Given the description of an element on the screen output the (x, y) to click on. 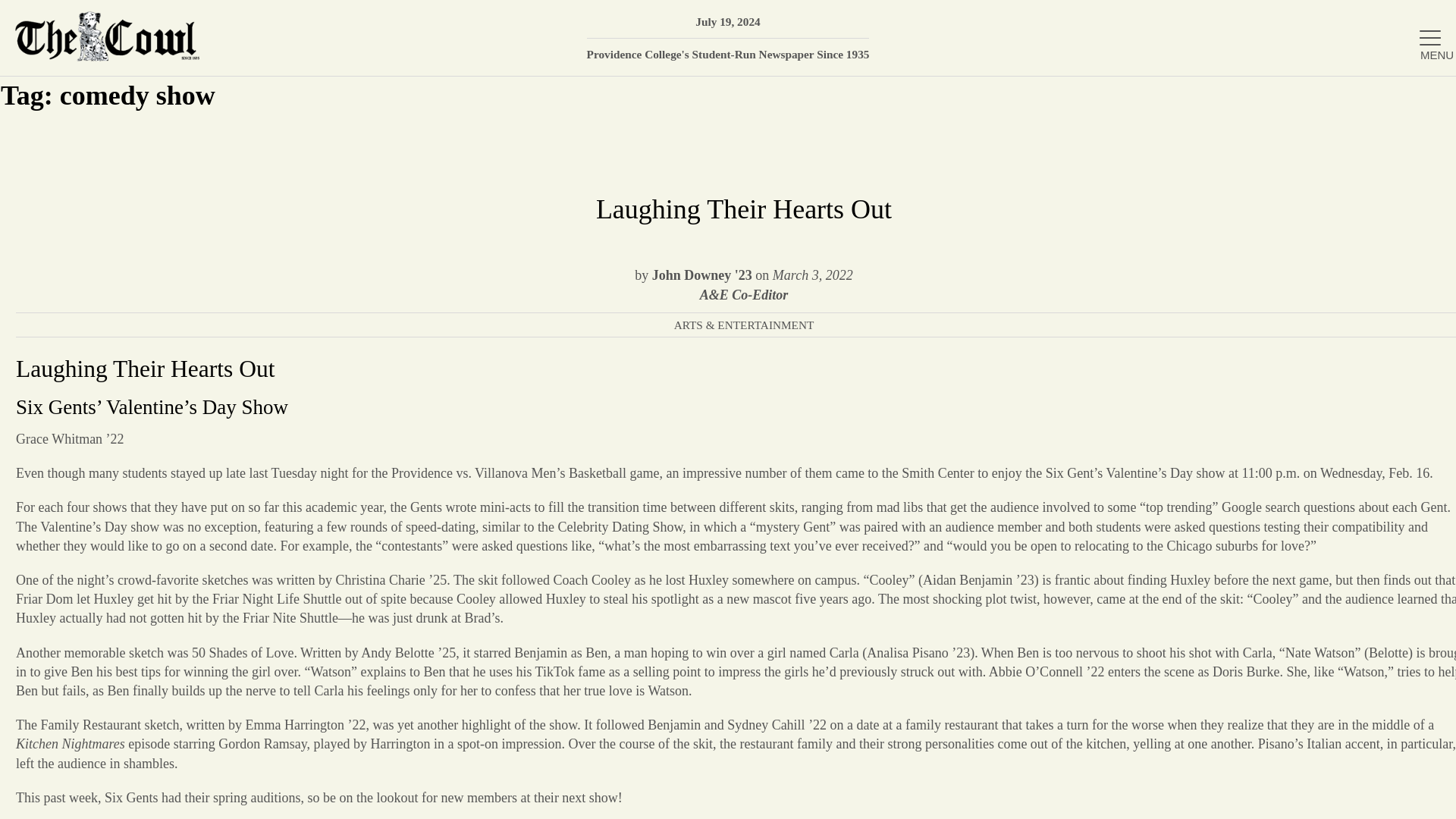
Sports (1275, 448)
Search (1422, 96)
Search (1422, 96)
News (1275, 251)
Letters to the Editor (1275, 497)
Home (1275, 152)
Search (1422, 96)
About Us (1275, 201)
Opinion (1275, 349)
Portfolio (1275, 399)
